Given the description of an element on the screen output the (x, y) to click on. 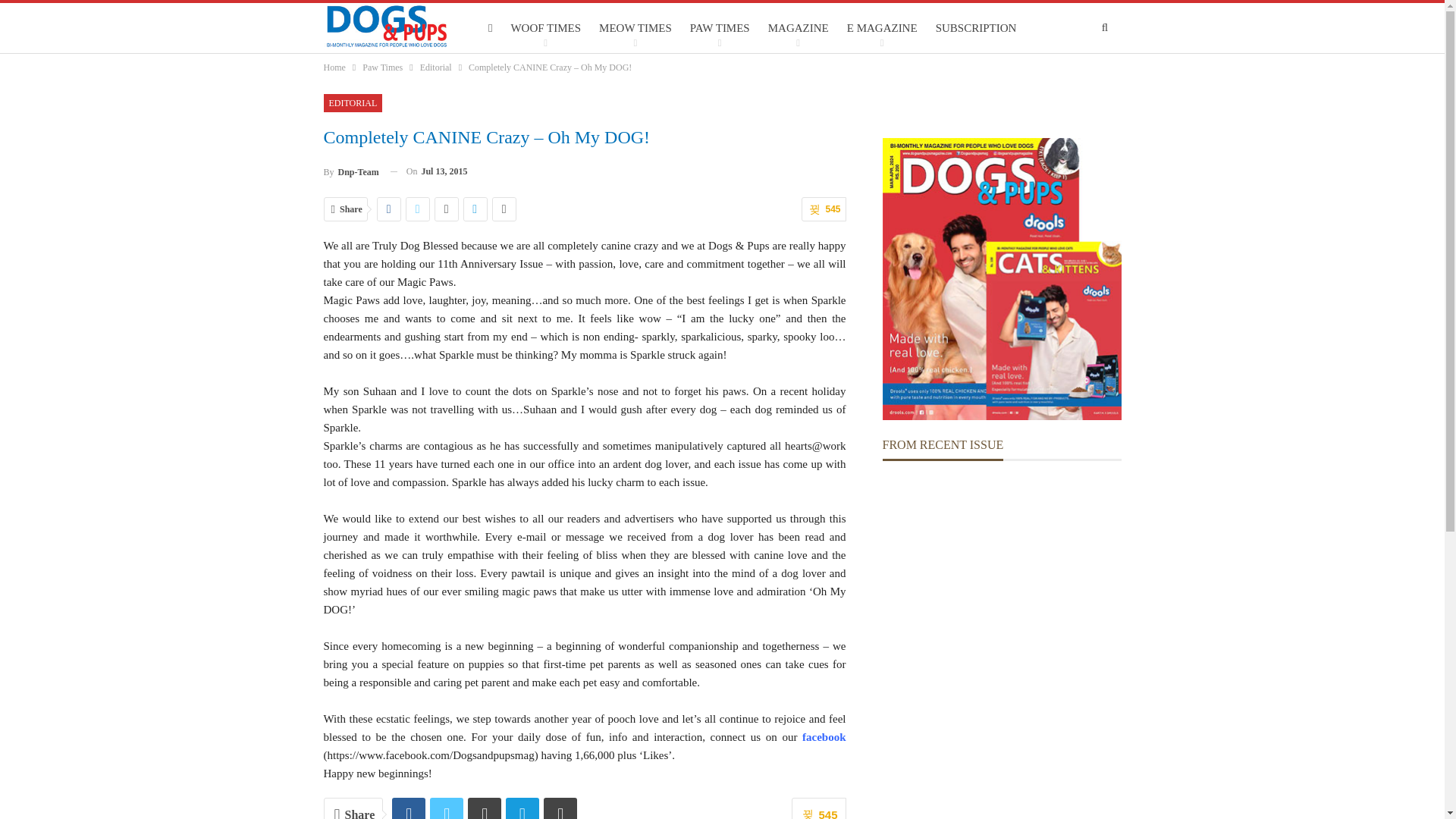
WOOF TIMES (545, 28)
Browse Author Articles (350, 171)
PAW TIMES (719, 28)
Paw Times (382, 67)
SUBSCRIPTION (976, 28)
E MAGAZINE (882, 28)
EDITORIAL (352, 103)
By Dnp-Team (350, 171)
Editorial (435, 67)
MAGAZINE (798, 28)
